Given the description of an element on the screen output the (x, y) to click on. 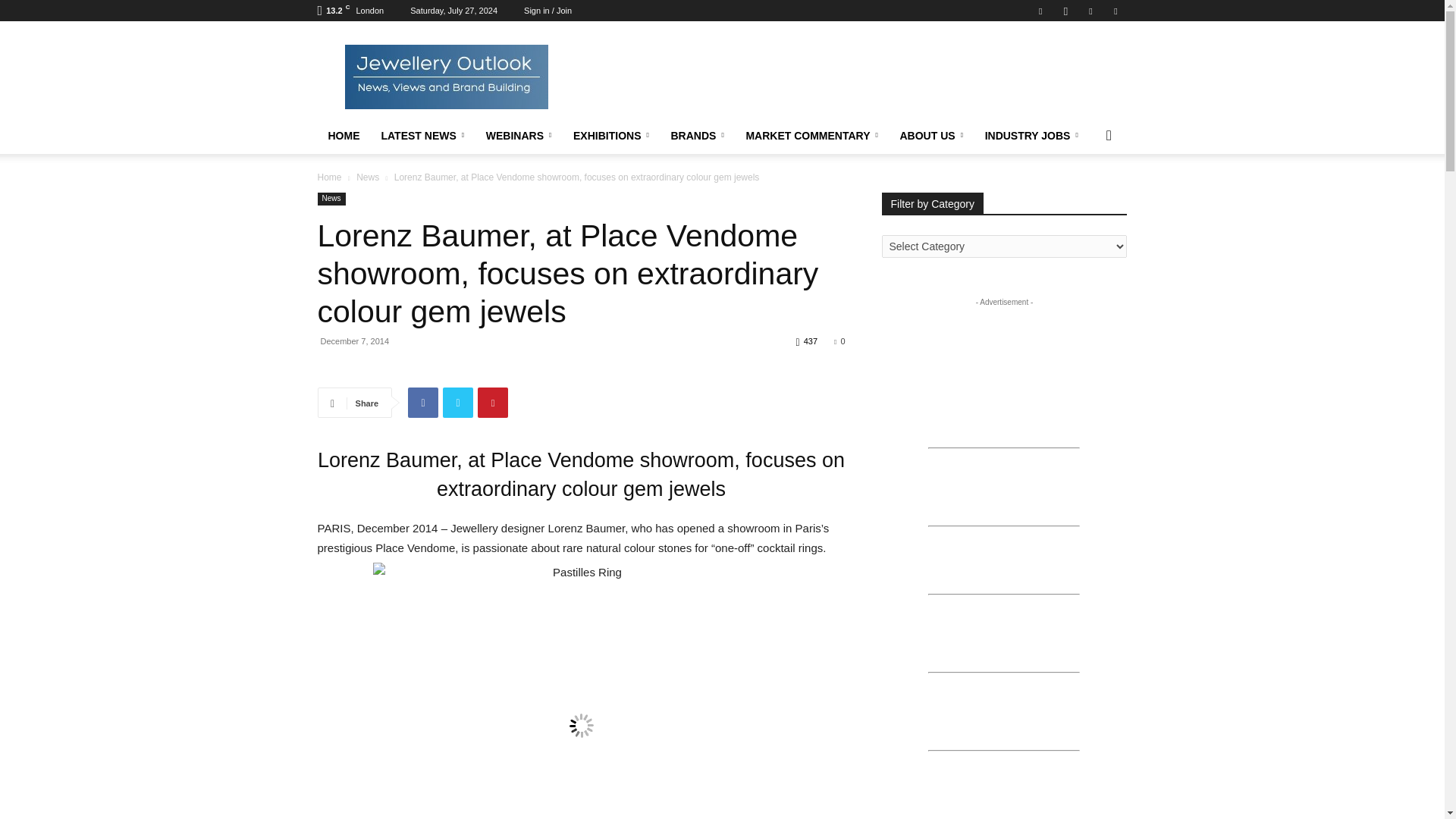
Twitter (1090, 10)
Youtube (1114, 10)
Jewellery Outlook (445, 76)
Facebook (1040, 10)
Instagram (1065, 10)
